Given the description of an element on the screen output the (x, y) to click on. 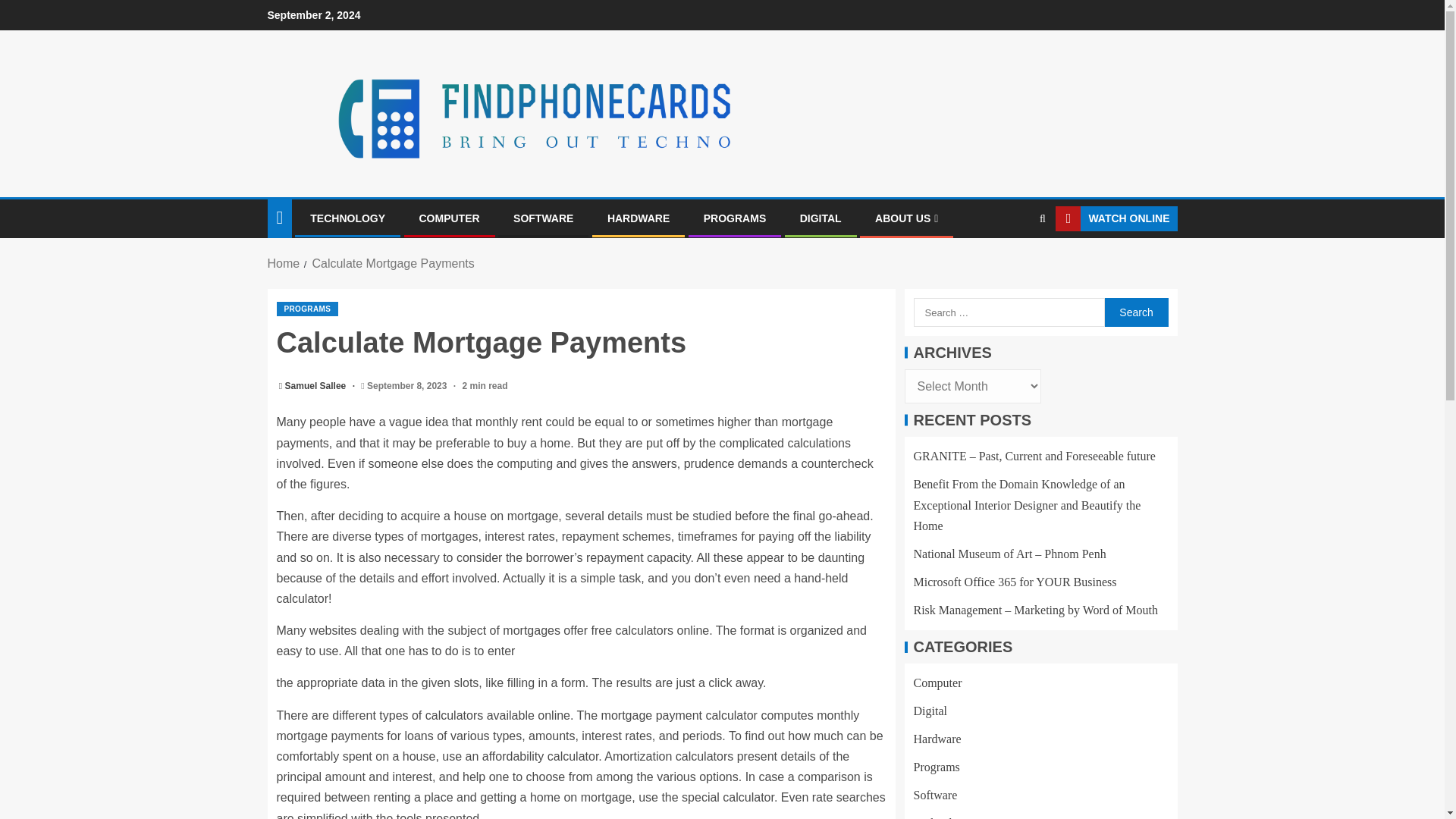
Search (1013, 265)
DIGITAL (820, 218)
Samuel Sallee (317, 385)
TECHNOLOGY (347, 218)
COMPUTER (449, 218)
PROGRAMS (734, 218)
WATCH ONLINE (1115, 218)
Calculate Mortgage Payments (392, 263)
ABOUT US (906, 218)
Search (1135, 312)
